Given the description of an element on the screen output the (x, y) to click on. 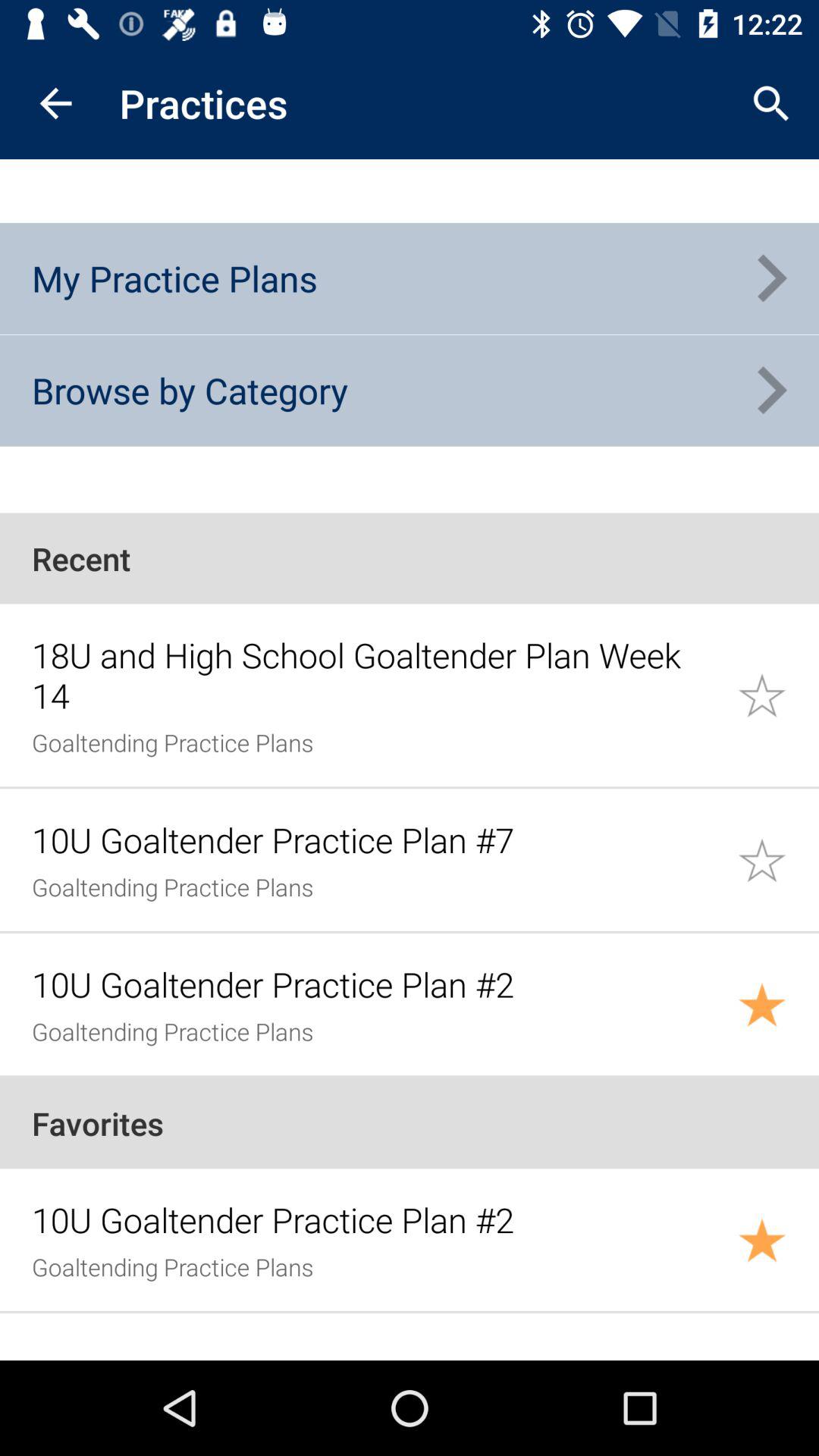
mark as favorite (778, 1004)
